Given the description of an element on the screen output the (x, y) to click on. 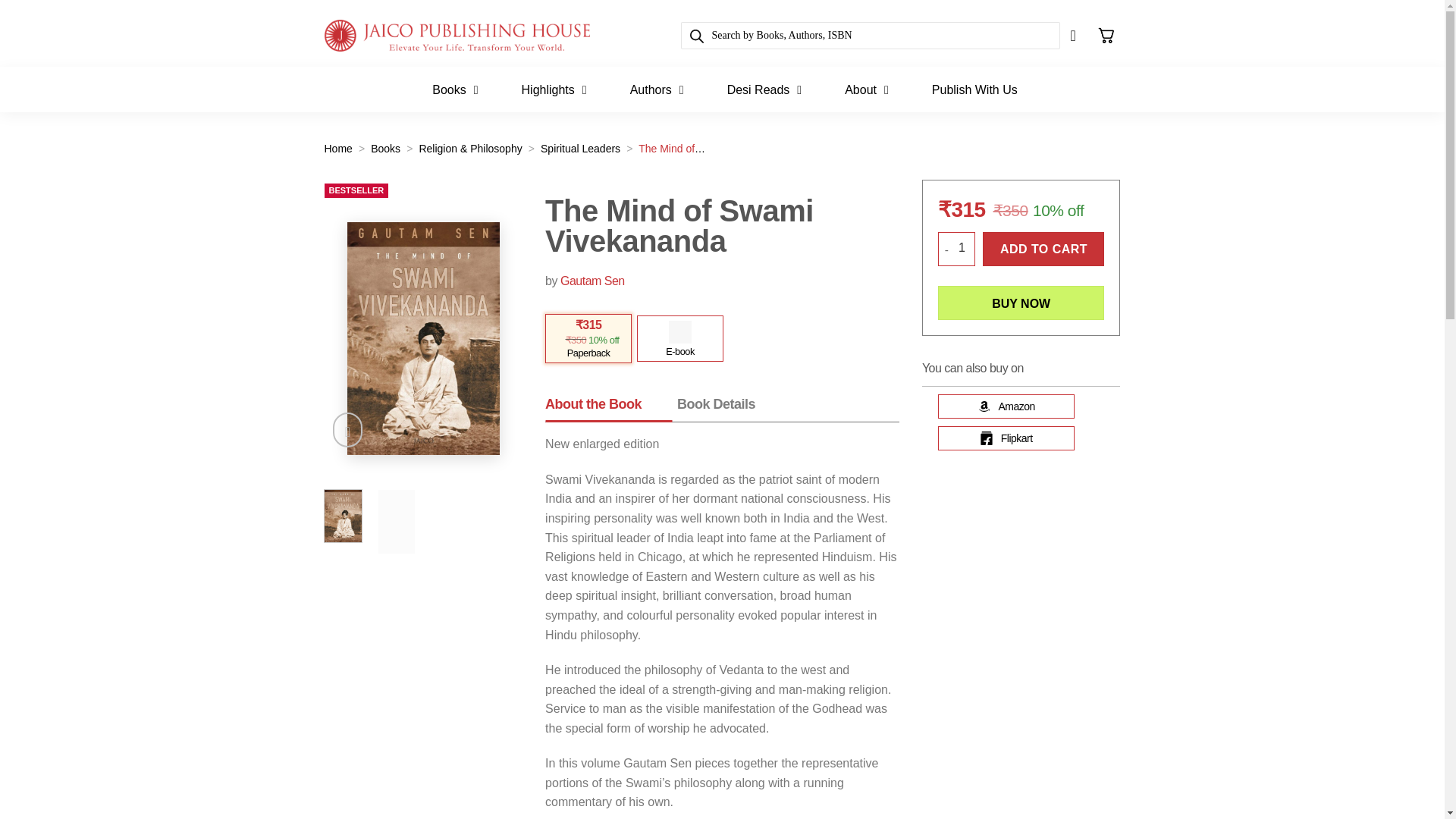
Cart (1105, 34)
Books (454, 93)
